Given the description of an element on the screen output the (x, y) to click on. 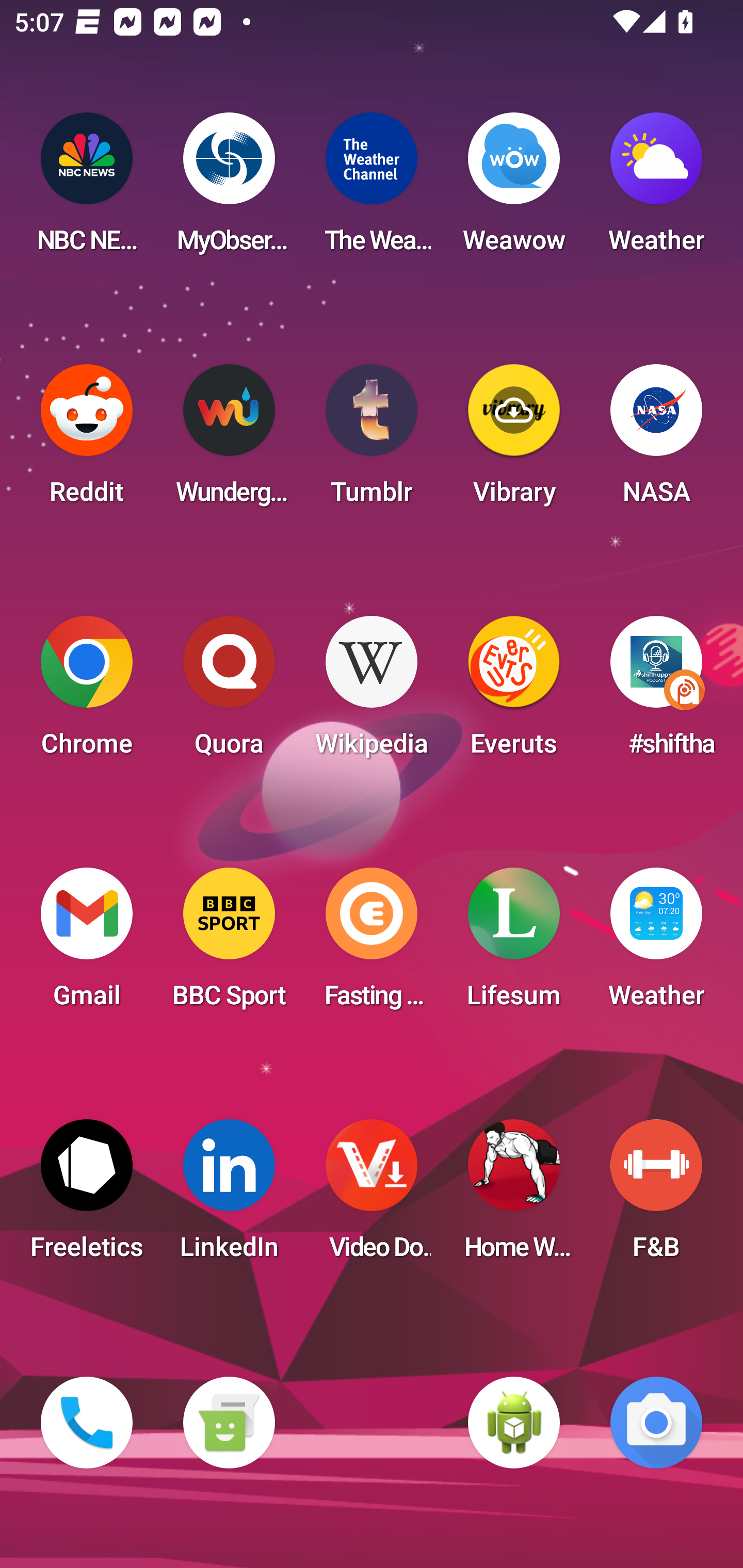
NBC NEWS (86, 188)
MyObservatory (228, 188)
The Weather Channel (371, 188)
Weawow (513, 188)
Weather (656, 188)
Reddit (86, 440)
Wunderground (228, 440)
Tumblr (371, 440)
Vibrary (513, 440)
NASA (656, 440)
Chrome (86, 692)
Quora (228, 692)
Wikipedia (371, 692)
Everuts (513, 692)
#shifthappens in the Digital Workplace Podcast (656, 692)
Gmail (86, 943)
BBC Sport (228, 943)
Fasting Coach (371, 943)
Lifesum (513, 943)
Weather (656, 943)
Freeletics (86, 1195)
LinkedIn (228, 1195)
Video Downloader & Ace Player (371, 1195)
Home Workout (513, 1195)
F&B (656, 1195)
Phone (86, 1422)
Messaging (228, 1422)
WebView Browser Tester (513, 1422)
Camera (656, 1422)
